Given the description of an element on the screen output the (x, y) to click on. 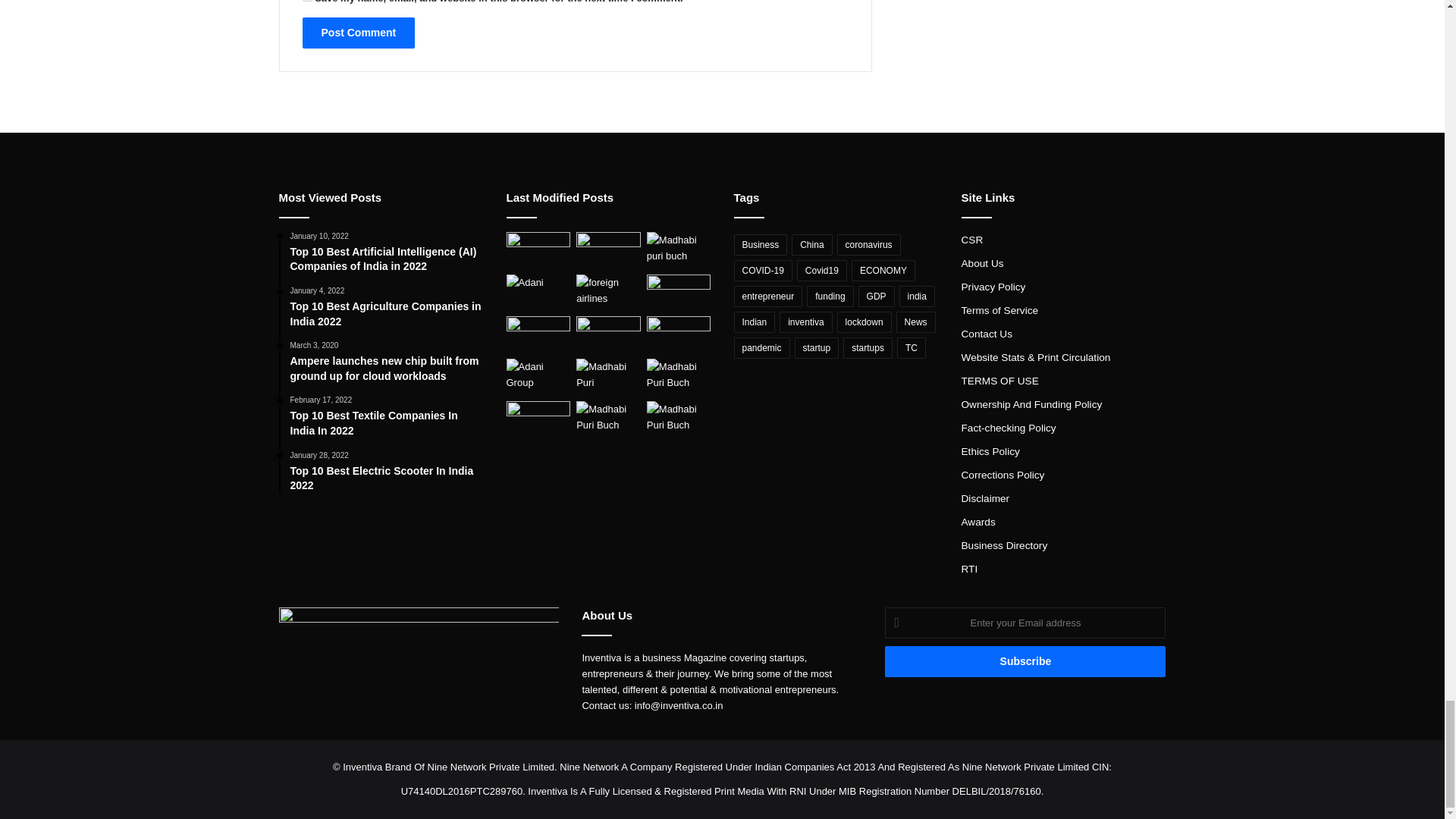
Post Comment (357, 32)
Subscribe (1025, 661)
